Given the description of an element on the screen output the (x, y) to click on. 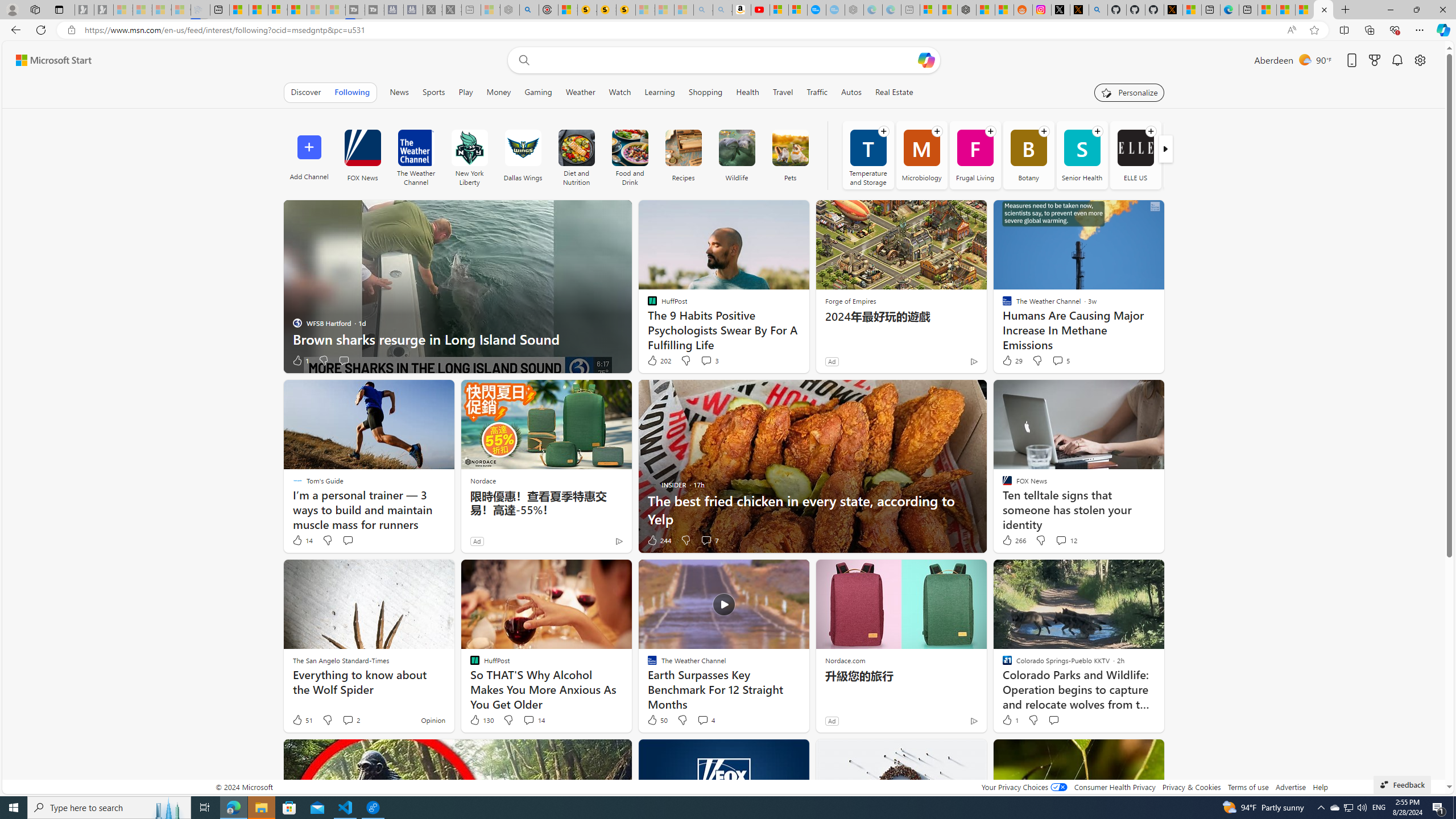
Weather (580, 92)
View comments 5 Comment (1056, 360)
Amazon Echo Dot PNG - Search Images - Sleeping (721, 9)
View comments 3 Comment (709, 360)
Dallas Wings (522, 147)
View comments 4 Comment (705, 719)
Traffic (817, 92)
FOX News (362, 147)
